Given the description of an element on the screen output the (x, y) to click on. 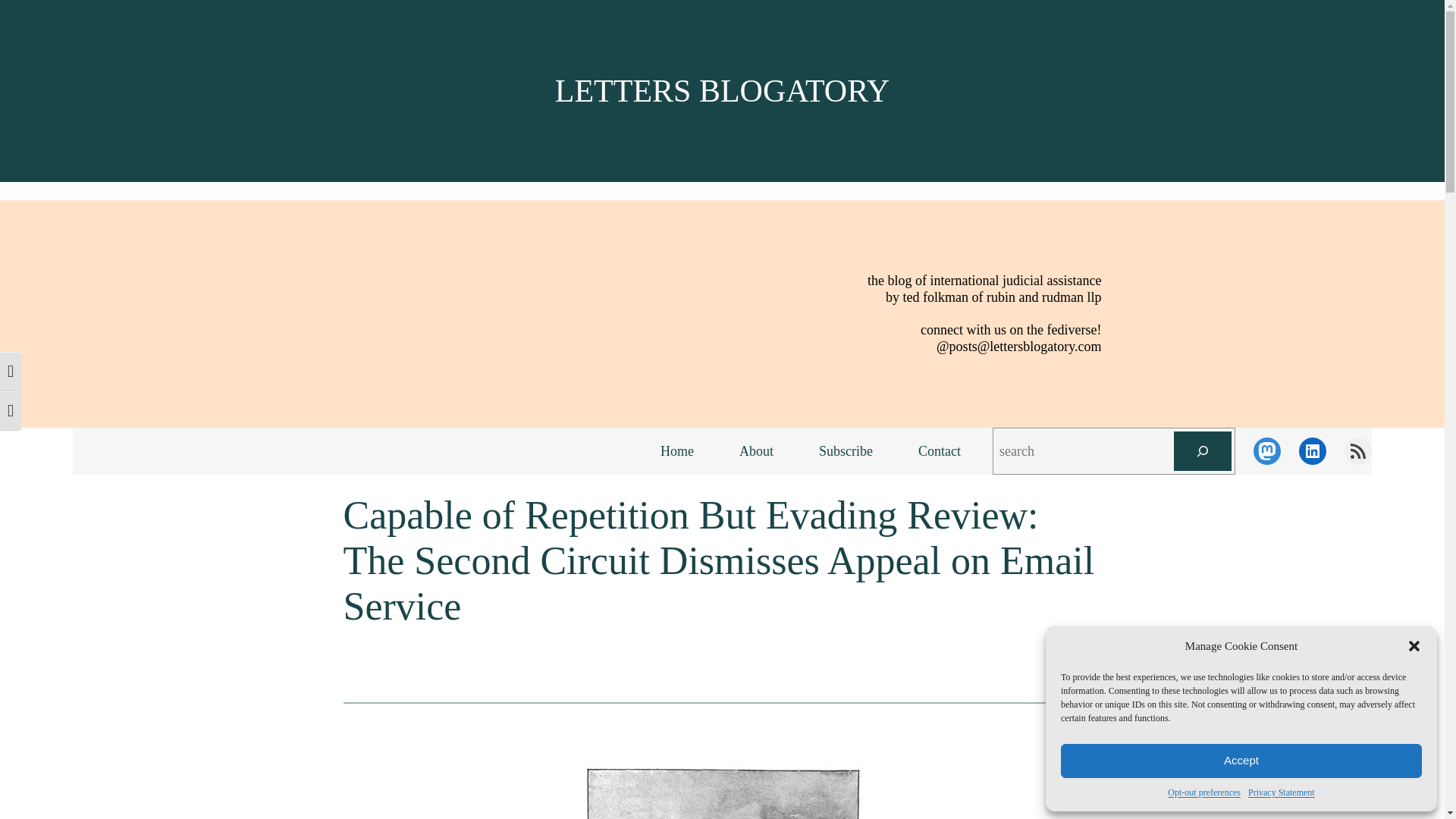
About (756, 451)
Toggle High Contrast (10, 371)
Home (676, 451)
Opt-out preferences (1203, 792)
Letters Blogatory RSS feed (1357, 451)
LinkedIn (1312, 451)
Contact (939, 451)
Accept (1241, 760)
Privacy Statement (1280, 792)
Mastodon (1267, 451)
Toggle Font size (10, 410)
Subscribe (845, 451)
